Given the description of an element on the screen output the (x, y) to click on. 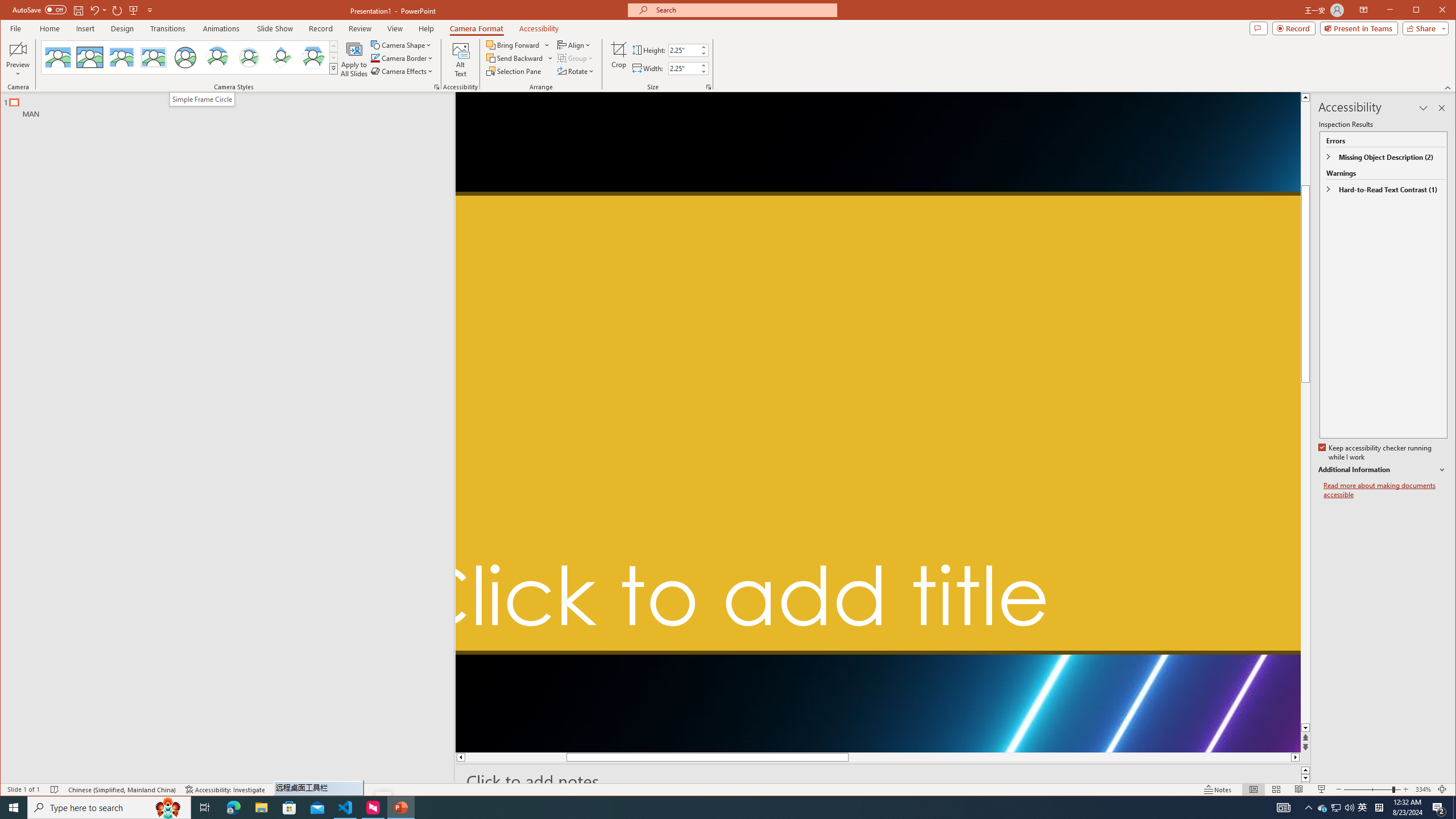
Simple Frame Rectangle (90, 57)
Camera Border Blue, Accent 1 (375, 57)
Slide Notes (882, 780)
Microsoft Edge (233, 807)
Additional Information (1382, 469)
Soft Edge Circle (248, 57)
